Given the description of an element on the screen output the (x, y) to click on. 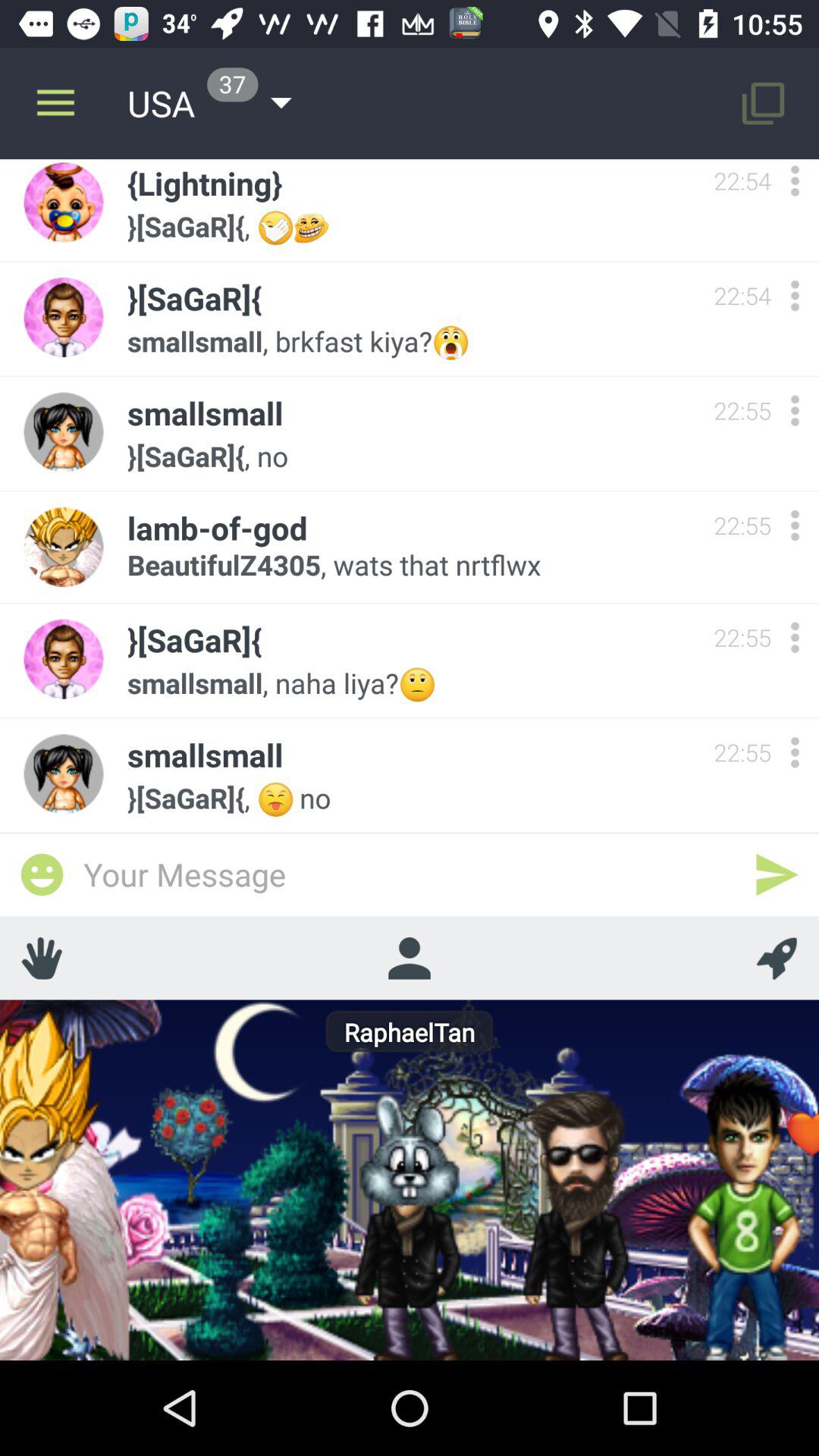
open settings for this user (795, 295)
